Given the description of an element on the screen output the (x, y) to click on. 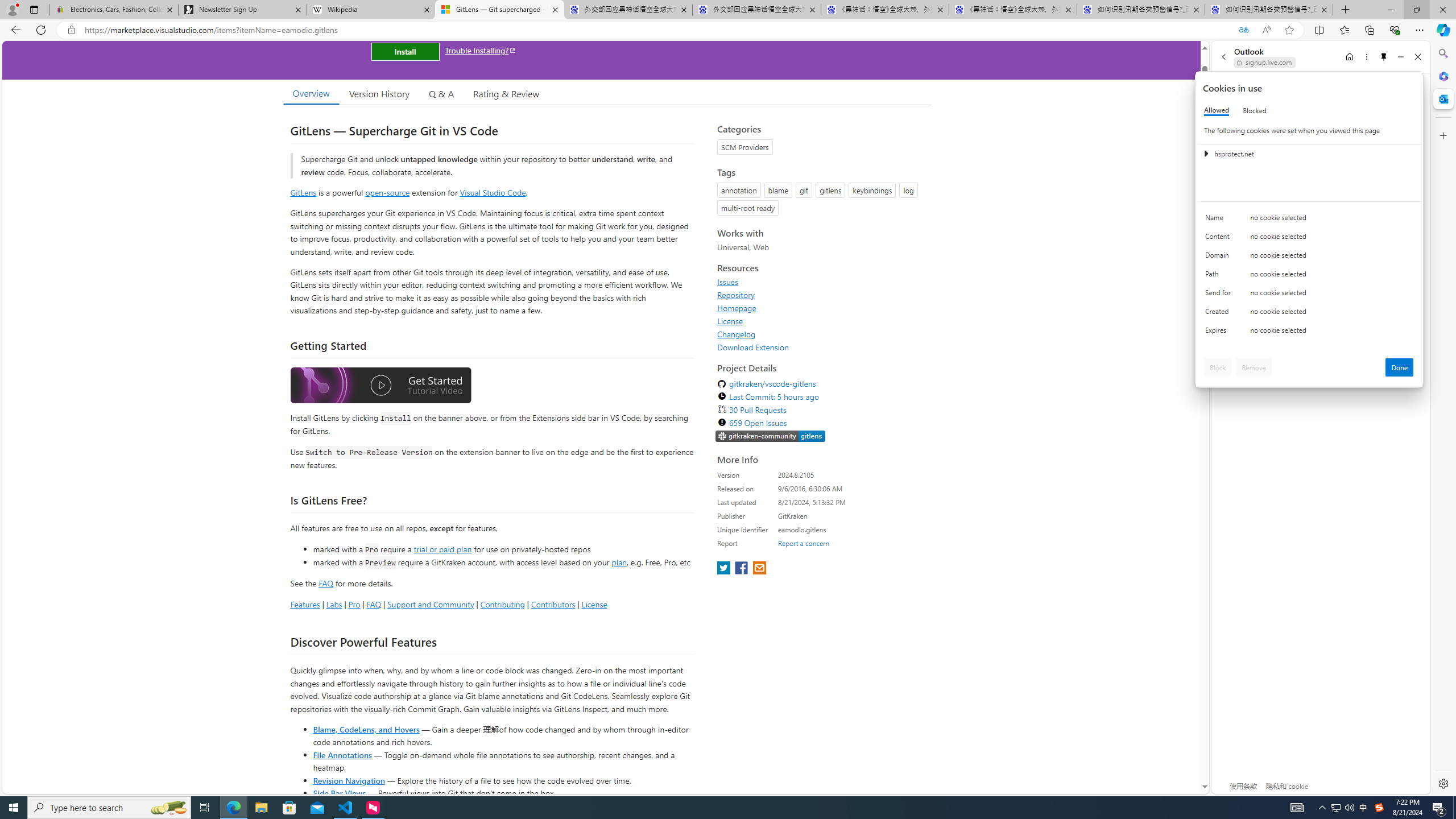
Block (1217, 367)
no cookie selected (1331, 332)
Expires (1219, 332)
Created (1219, 313)
Allowed (1216, 110)
Remove (1253, 367)
Send for (1219, 295)
Class: c0153 c0157 (1309, 332)
Name (1219, 220)
Class: c0153 c0157 c0154 (1309, 220)
Domain (1219, 257)
Blocked (1255, 110)
Path (1219, 276)
Done (1399, 367)
Content (1219, 239)
